Given the description of an element on the screen output the (x, y) to click on. 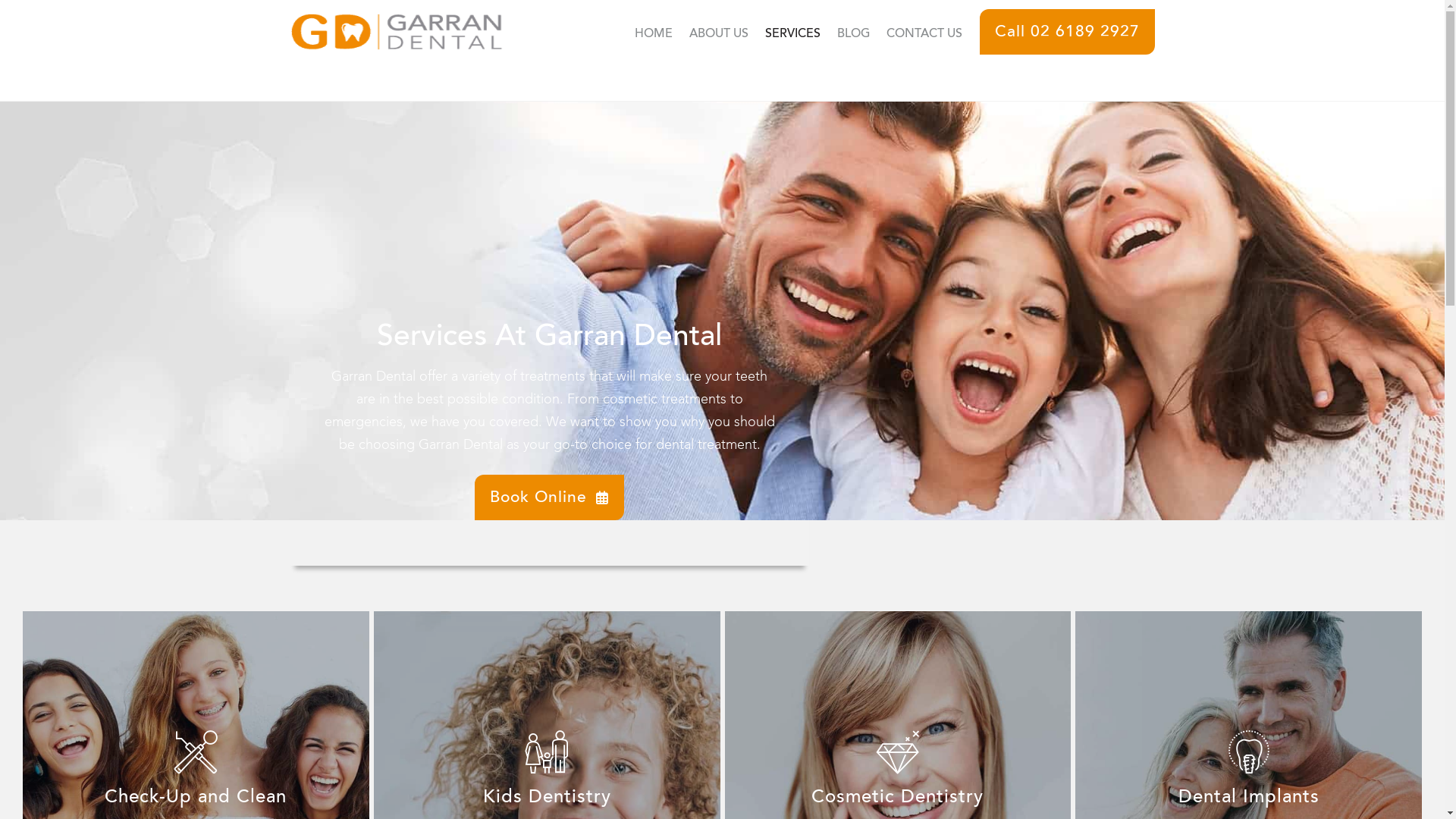
Call 02 6189 2927 Element type: text (1066, 31)
ABOUT US Element type: text (718, 33)
SERVICES Element type: text (792, 33)
HOME Element type: text (653, 33)
BLOG Element type: text (852, 33)
CONTACT US Element type: text (924, 33)
Book Online Element type: text (549, 497)
